Given the description of an element on the screen output the (x, y) to click on. 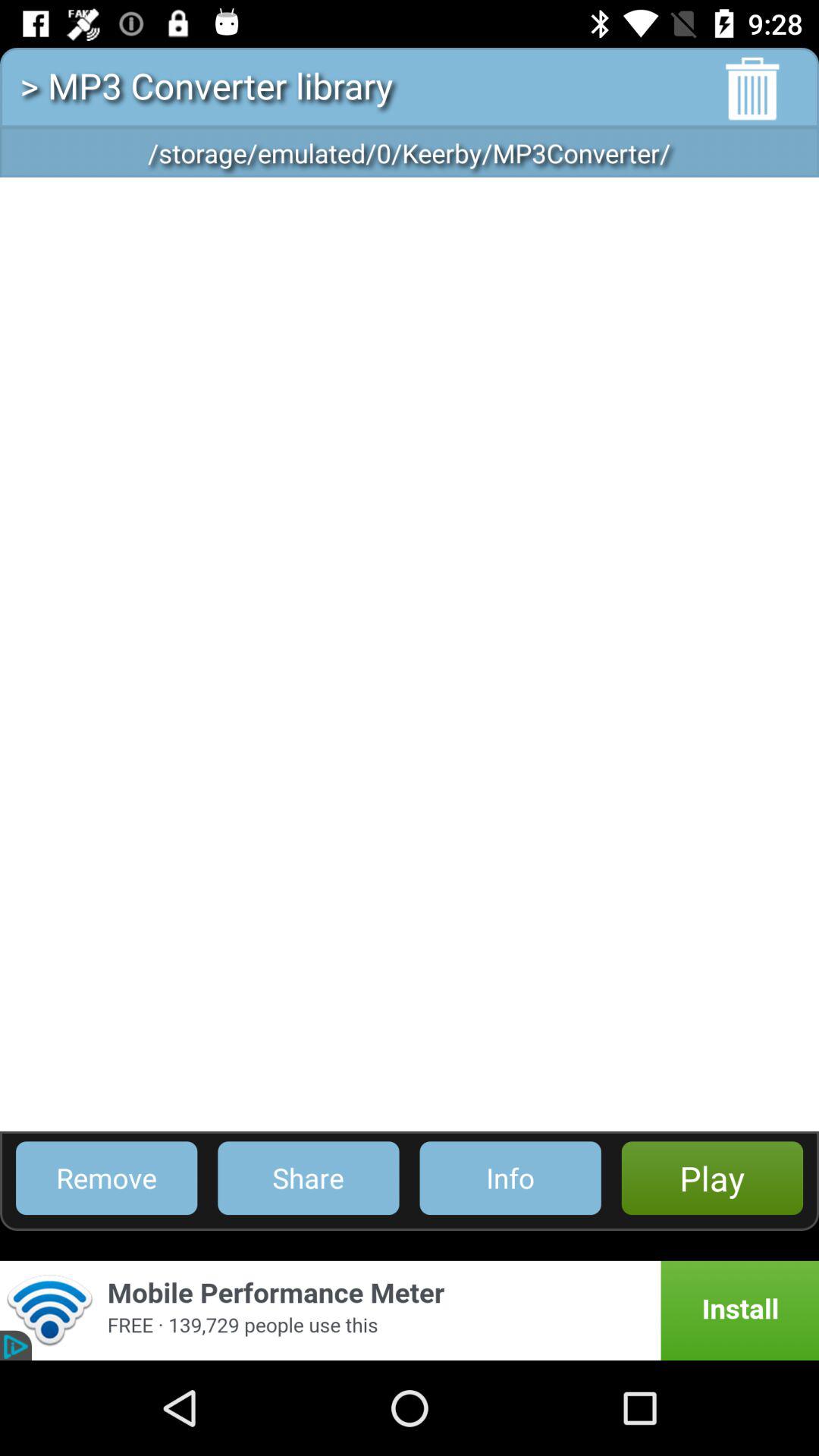
turn off item next to the share (106, 1177)
